Given the description of an element on the screen output the (x, y) to click on. 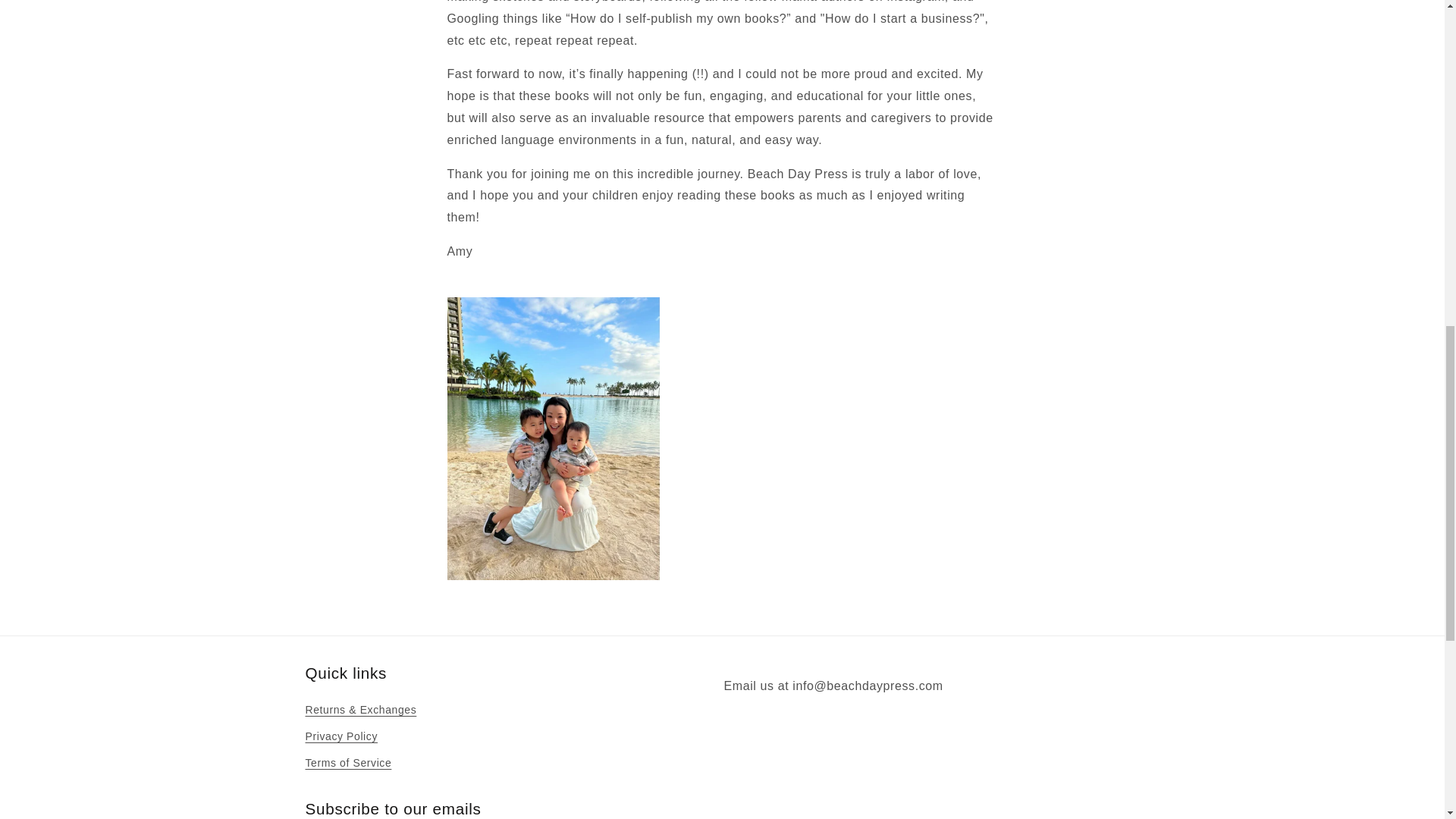
Privacy Policy (340, 736)
Terms of Service (347, 763)
